Given the description of an element on the screen output the (x, y) to click on. 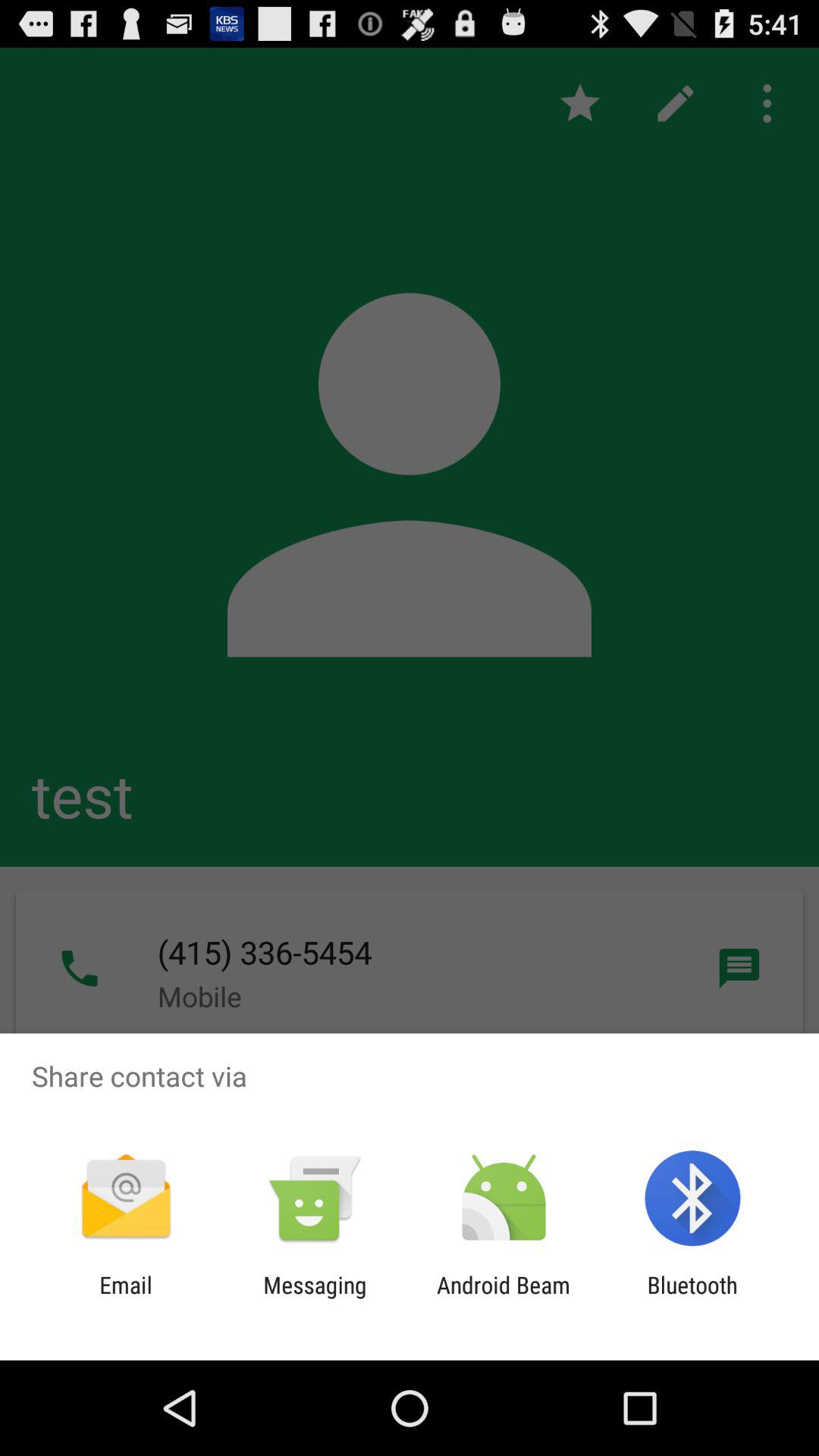
click the messaging (314, 1298)
